Given the description of an element on the screen output the (x, y) to click on. 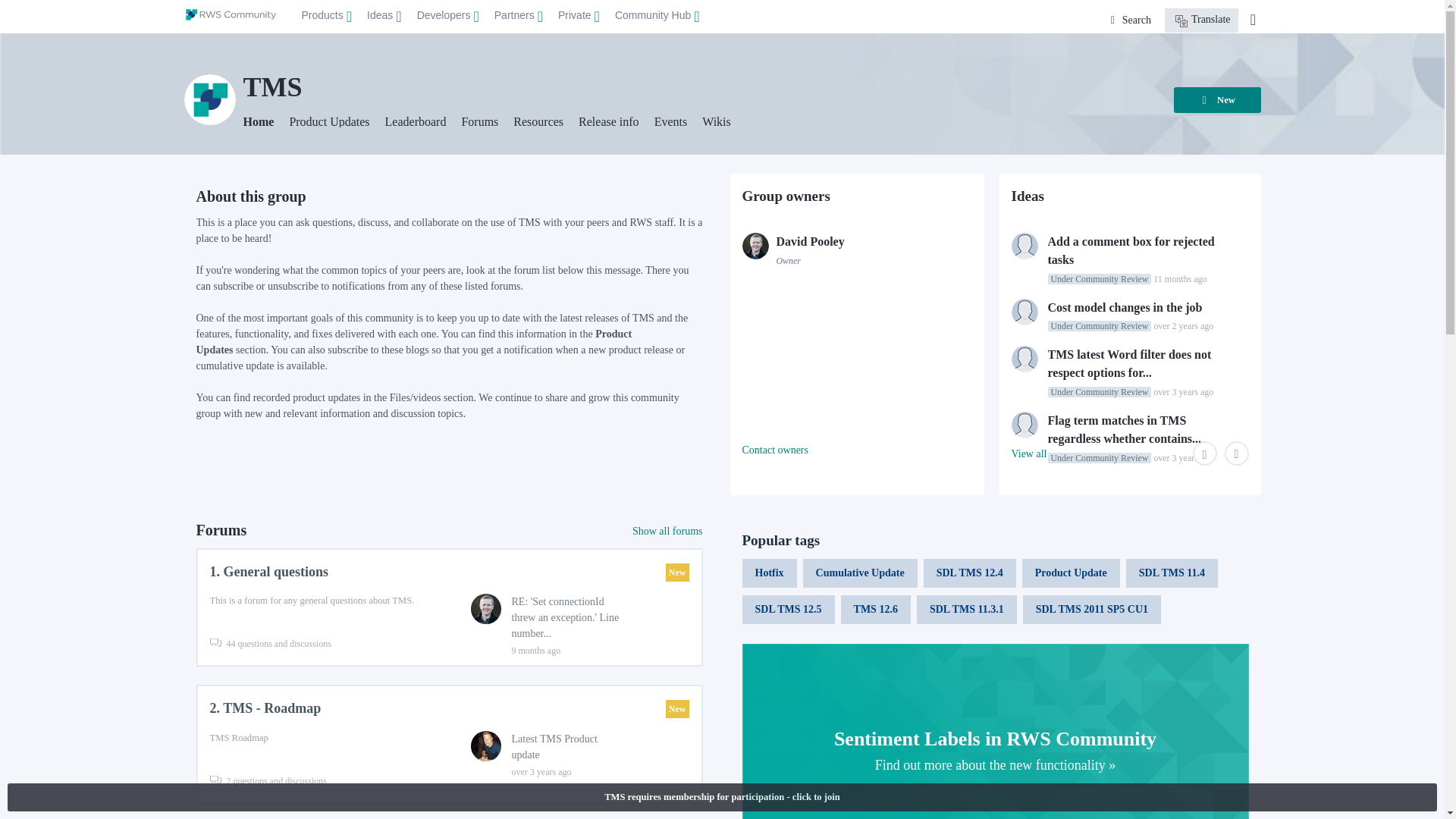
Products (326, 16)
Search (1130, 19)
Home (230, 14)
Join or sign in (1252, 19)
Ideas (384, 16)
Go to next page (1235, 453)
Products (326, 16)
Ideas (383, 16)
